Given the description of an element on the screen output the (x, y) to click on. 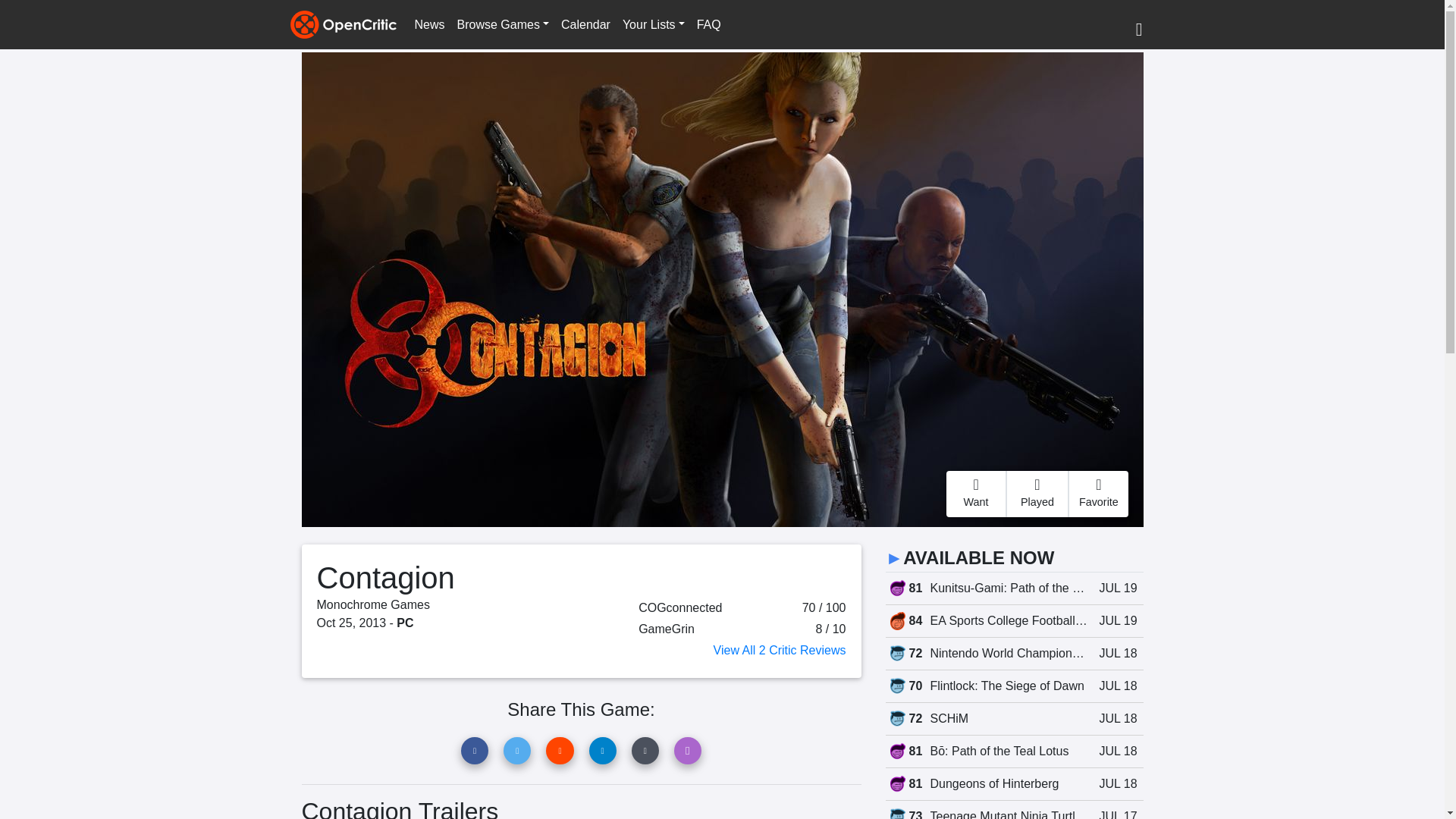
Your Lists (652, 24)
View All 2 Critic Reviews (779, 649)
News (428, 24)
Browse Games (502, 24)
FAQ (708, 24)
Calendar (584, 24)
